Given the description of an element on the screen output the (x, y) to click on. 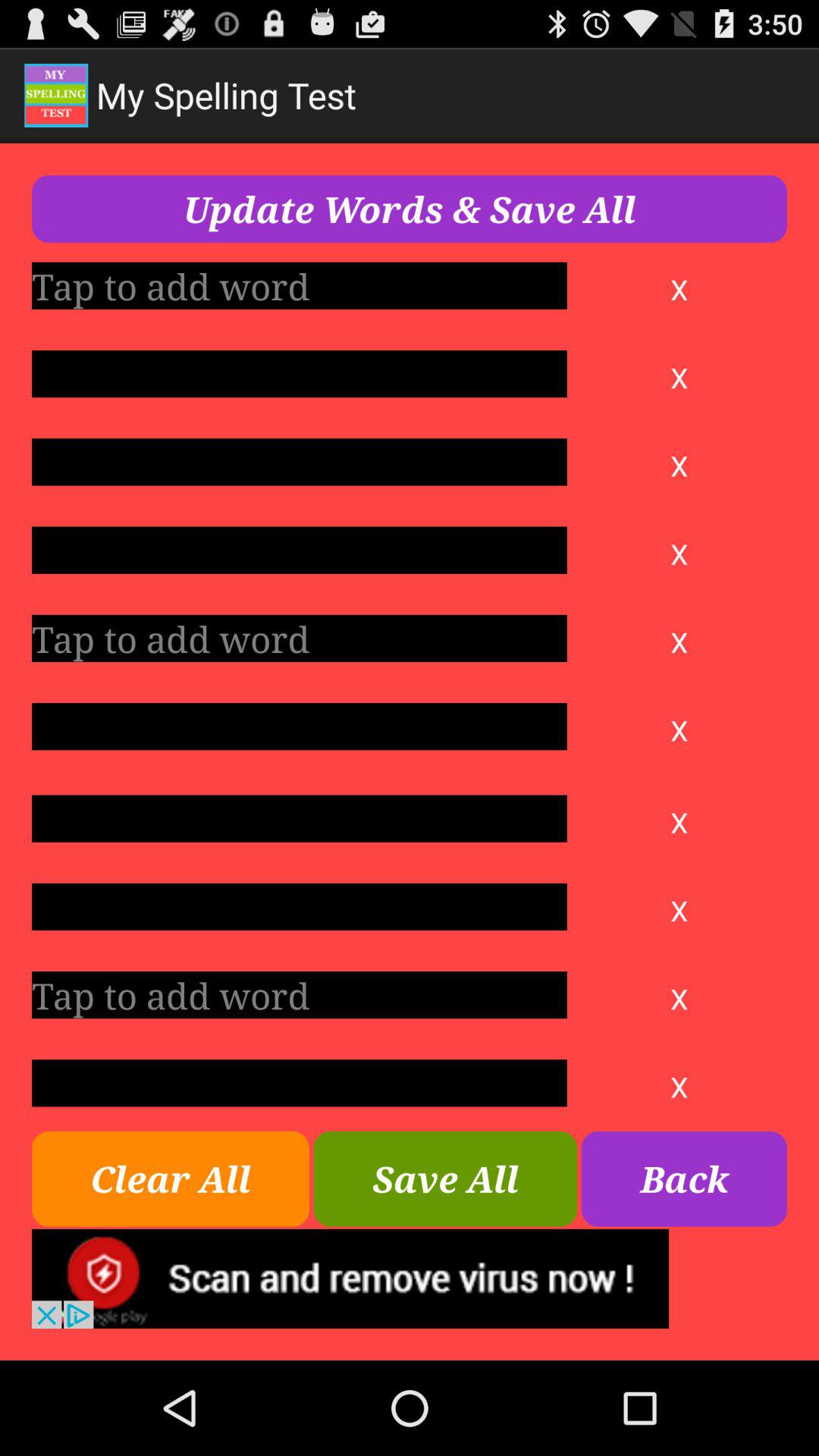
go to search (299, 994)
